Given the description of an element on the screen output the (x, y) to click on. 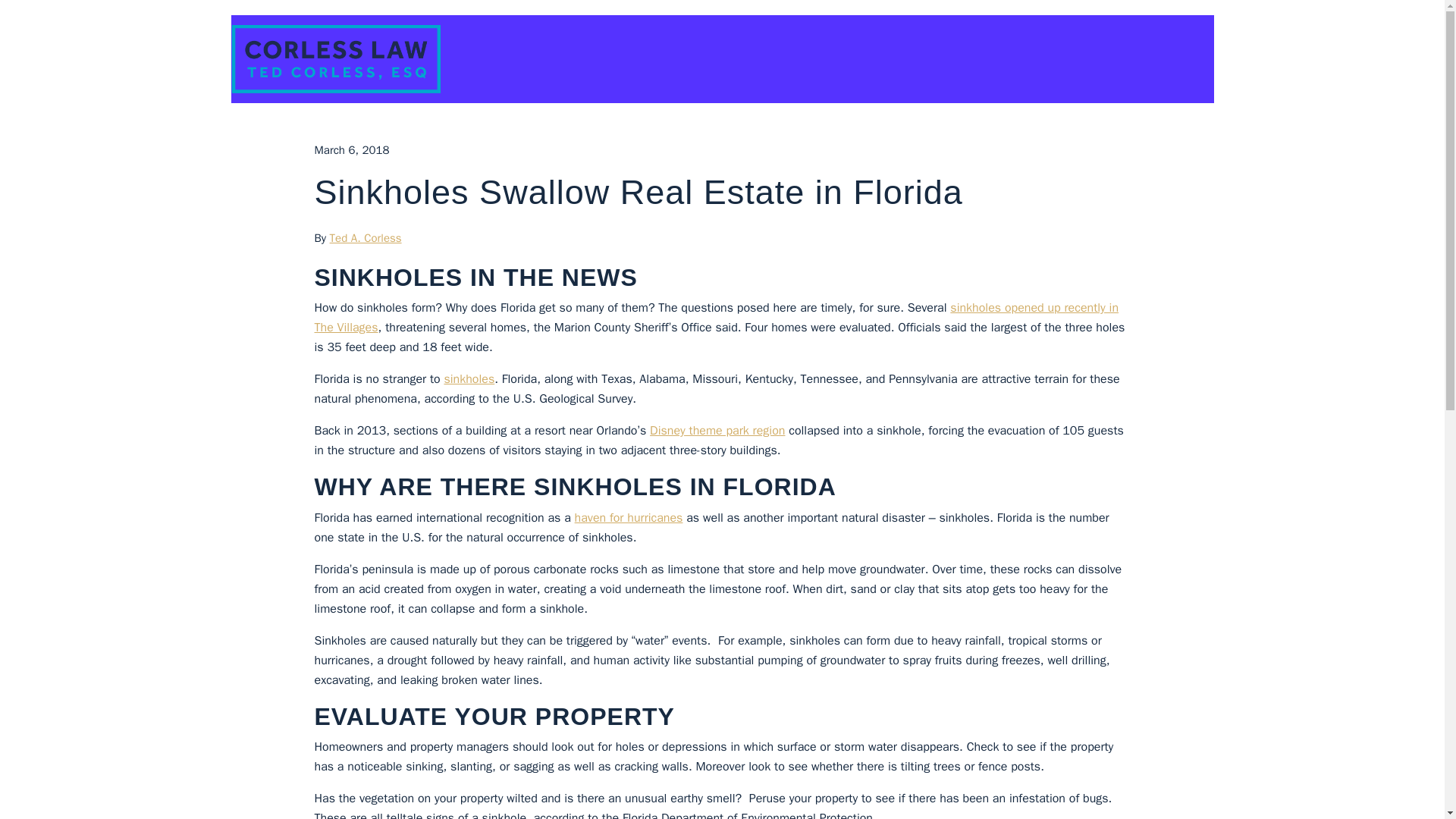
Posts by Ted A. Corless (365, 237)
haven for hurricanes (628, 517)
sinkholes (469, 378)
Ted A. Corless (365, 237)
sinkholes opened up recently in The Villages (716, 317)
Disney theme park region (716, 430)
